Given the description of an element on the screen output the (x, y) to click on. 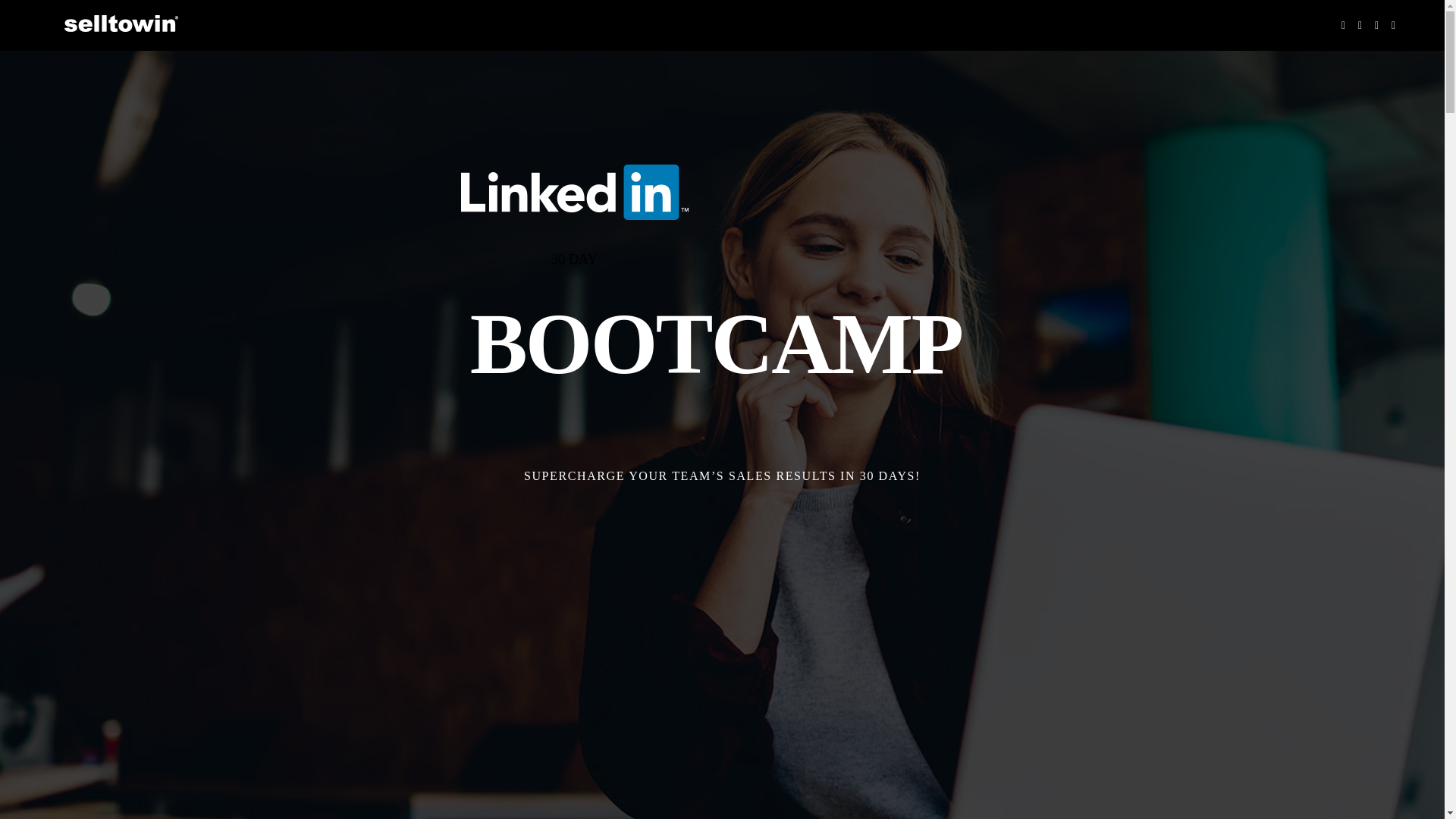
linkedIn (574, 192)
YouTube video player (721, 632)
